Given the description of an element on the screen output the (x, y) to click on. 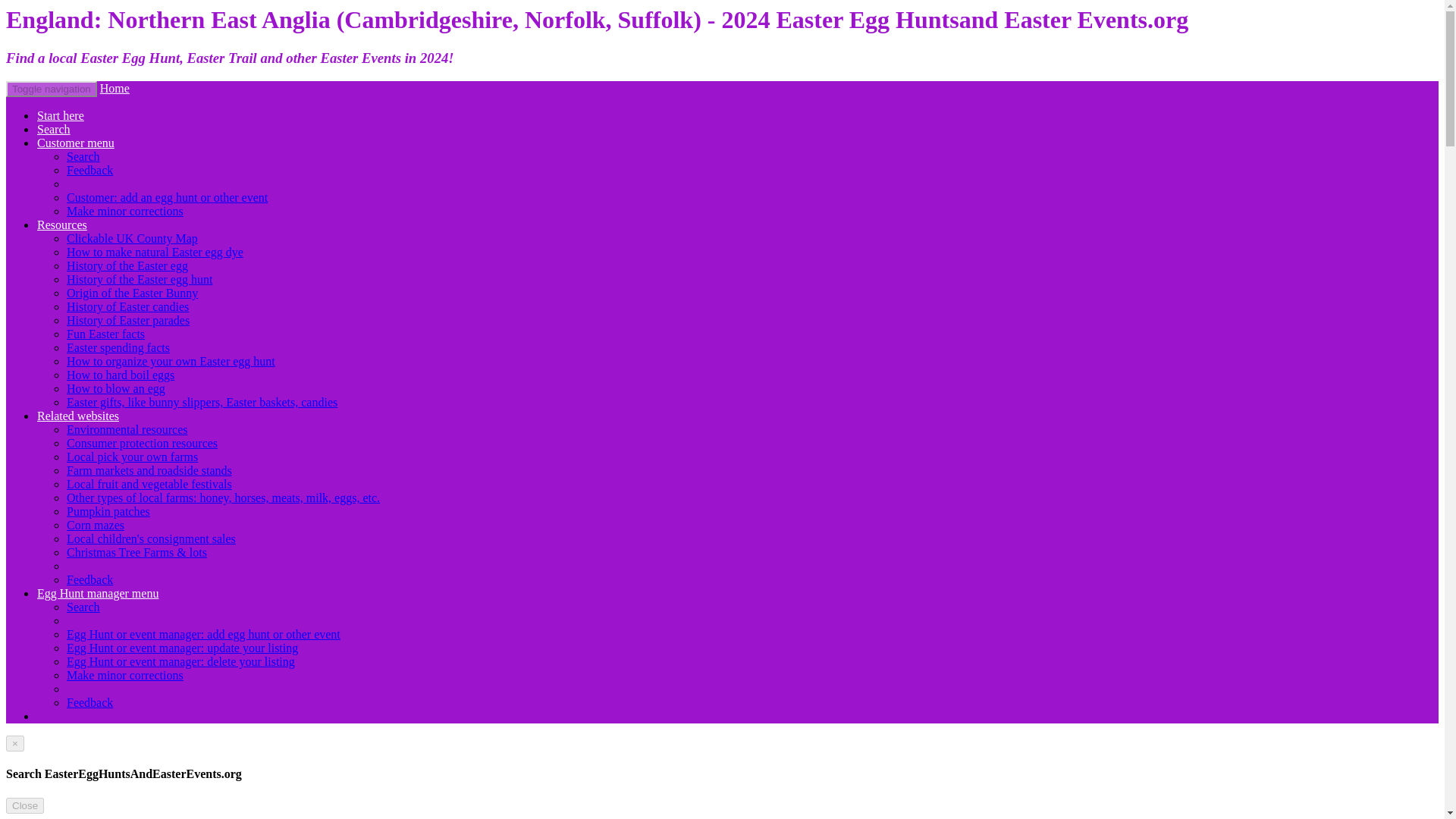
Origin of the Easter Bunny (132, 292)
Egg Hunt or event manager: delete your listing (180, 661)
Local children's consignment sales (150, 538)
History of Easter candies (127, 306)
Clickable UK County Map (132, 237)
History of Easter parades (127, 319)
Local fruit and vegetable festivals (148, 483)
Customer: add an egg hunt or other event (166, 196)
Search (83, 606)
Farm markets and roadside stands (148, 470)
Pumpkin patches (107, 511)
Corn mazes (94, 524)
Easter spending facts (118, 347)
Search (83, 155)
Customer menu (75, 142)
